Given the description of an element on the screen output the (x, y) to click on. 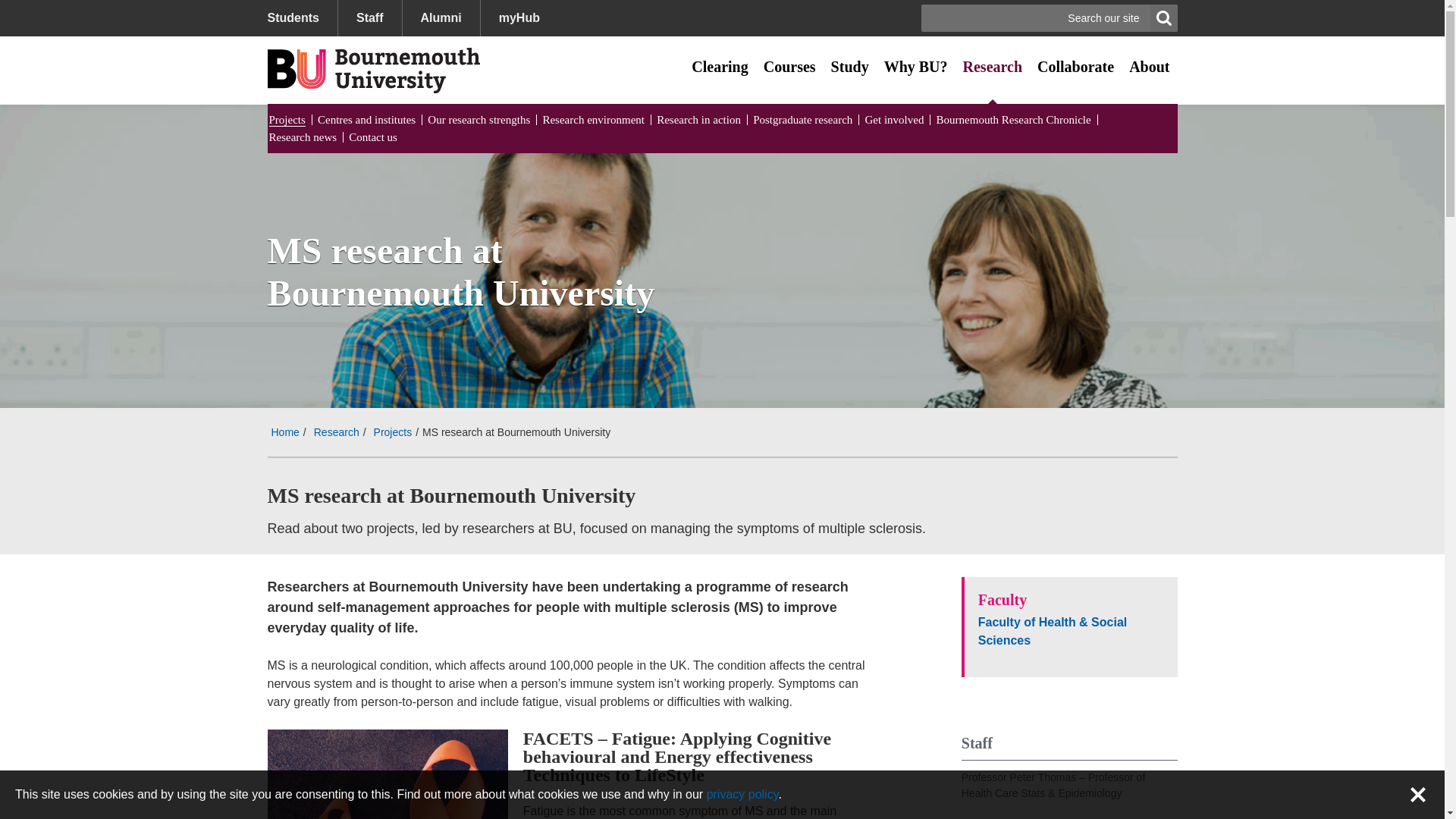
Study (850, 66)
Close (1417, 793)
Search (1163, 17)
Projects (285, 120)
Centres and institutes (365, 120)
Skip to main content (66, 11)
Bournemouth University (372, 70)
Research (992, 66)
Close (1417, 793)
Clearing (719, 66)
